Given the description of an element on the screen output the (x, y) to click on. 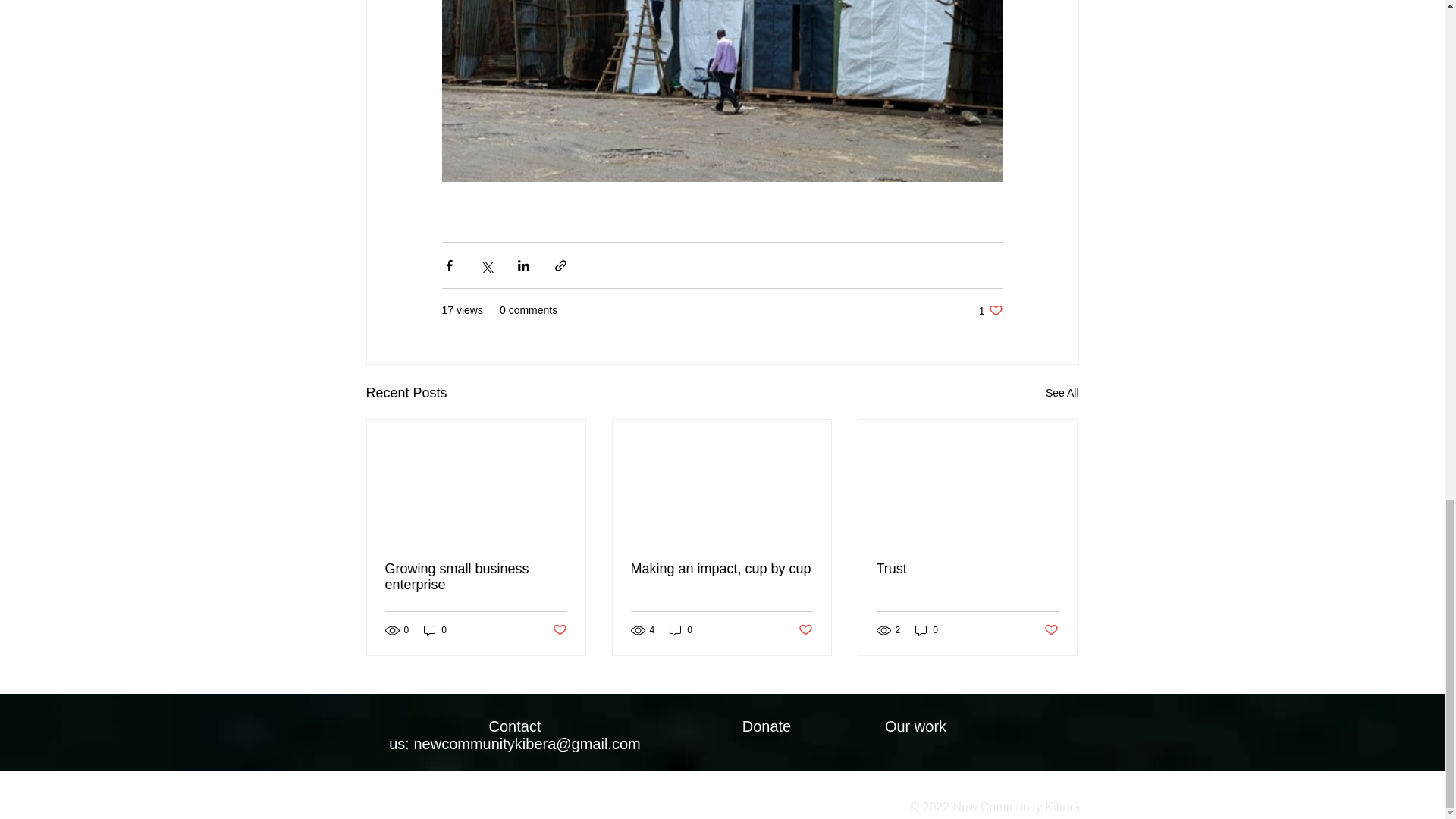
Post not marked as liked (558, 630)
Post not marked as liked (1050, 630)
0 (681, 630)
See All (1061, 393)
Trust (967, 569)
Growing small business enterprise (476, 576)
Post not marked as liked (804, 630)
0 (435, 630)
Making an impact, cup by cup (721, 569)
0 (990, 310)
